Given the description of an element on the screen output the (x, y) to click on. 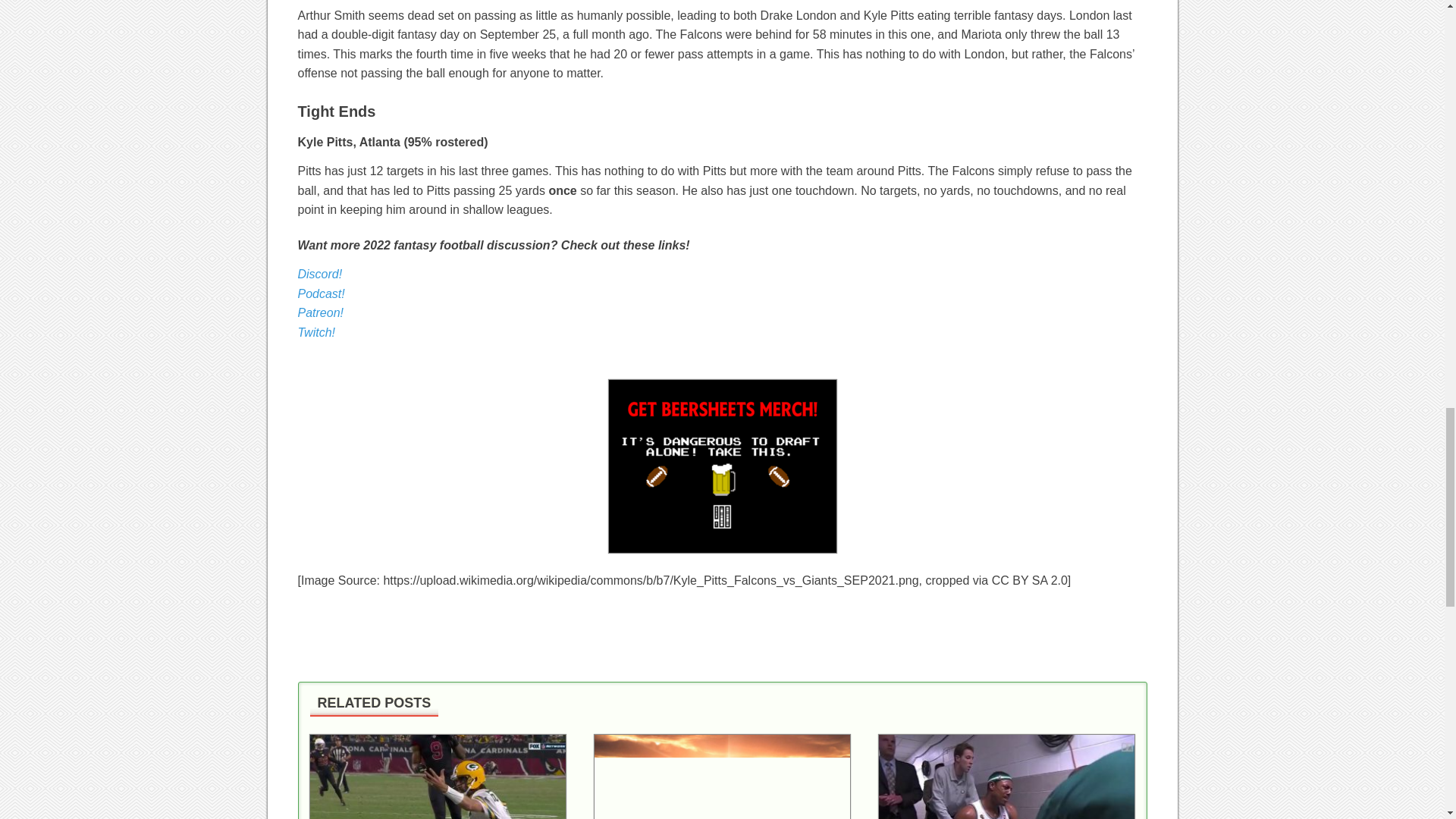
Podcast! (320, 293)
Twitch! (315, 332)
Patreon! (319, 312)
Discord! (319, 273)
